Given the description of an element on the screen output the (x, y) to click on. 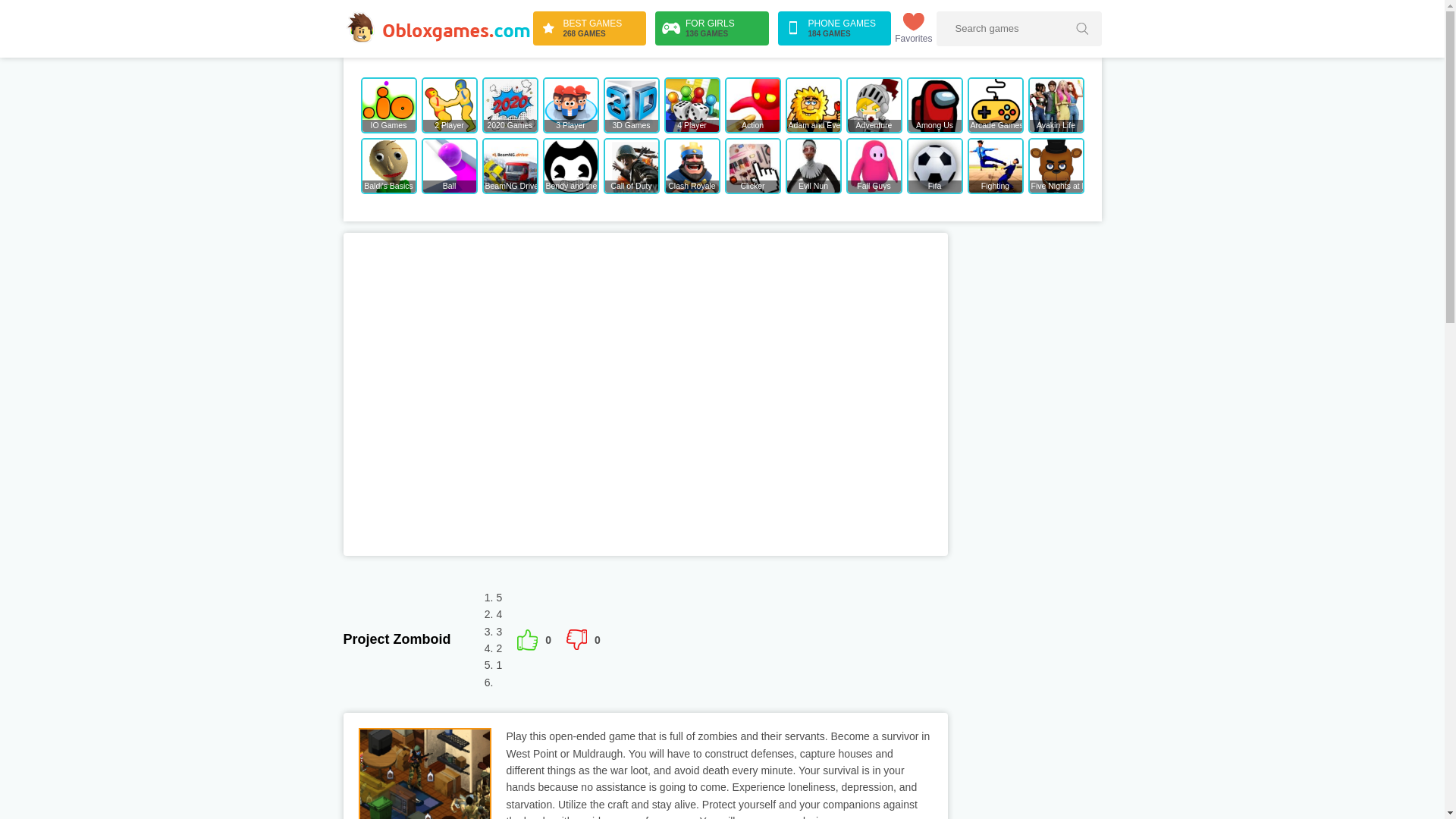
3 Player (570, 104)
3D Games (631, 104)
Among Us (934, 104)
Bendy and the Ink Machine (570, 166)
3D Games (589, 28)
Among Us (631, 104)
Five Nights at Freddy's (934, 104)
Fighting (1055, 166)
Call of Duty (995, 166)
